Given the description of an element on the screen output the (x, y) to click on. 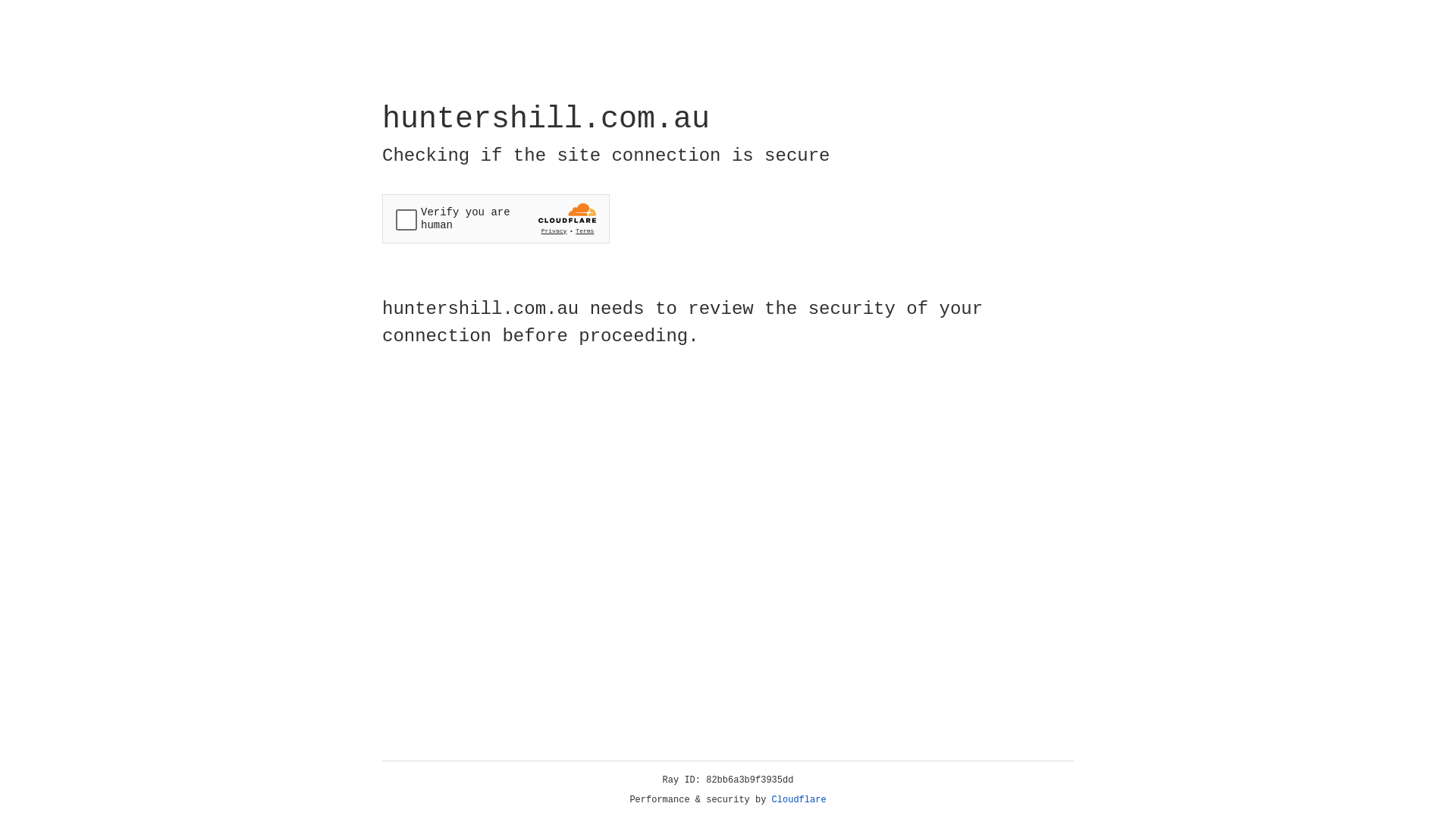
Widget containing a Cloudflare security challenge Element type: hover (495, 218)
Cloudflare Element type: text (798, 799)
